Given the description of an element on the screen output the (x, y) to click on. 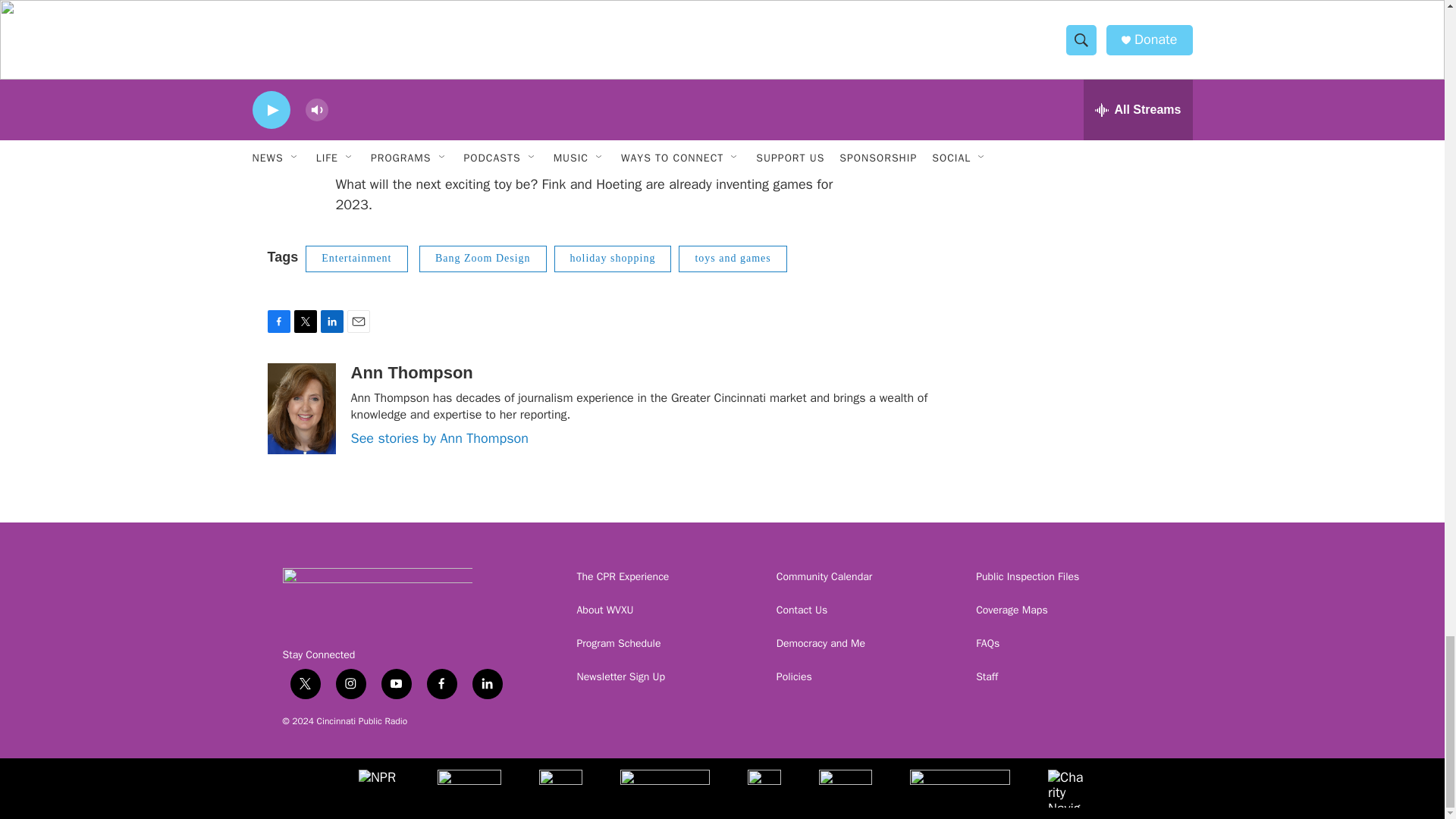
Crossed Signals Electronic Game - Smyths Toys (600, 68)
